Given the description of an element on the screen output the (x, y) to click on. 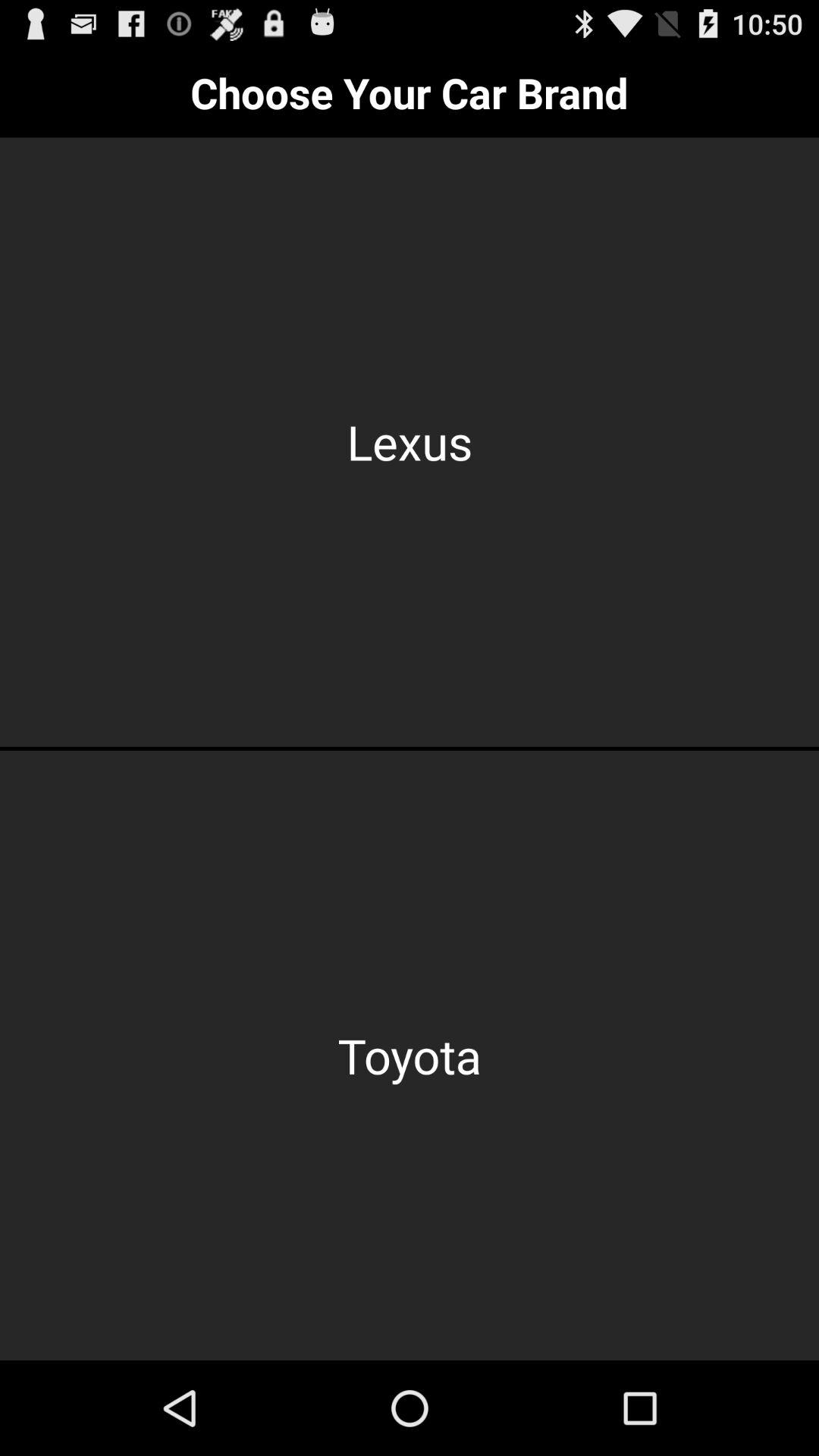
turn on the lexus icon (409, 441)
